Given the description of an element on the screen output the (x, y) to click on. 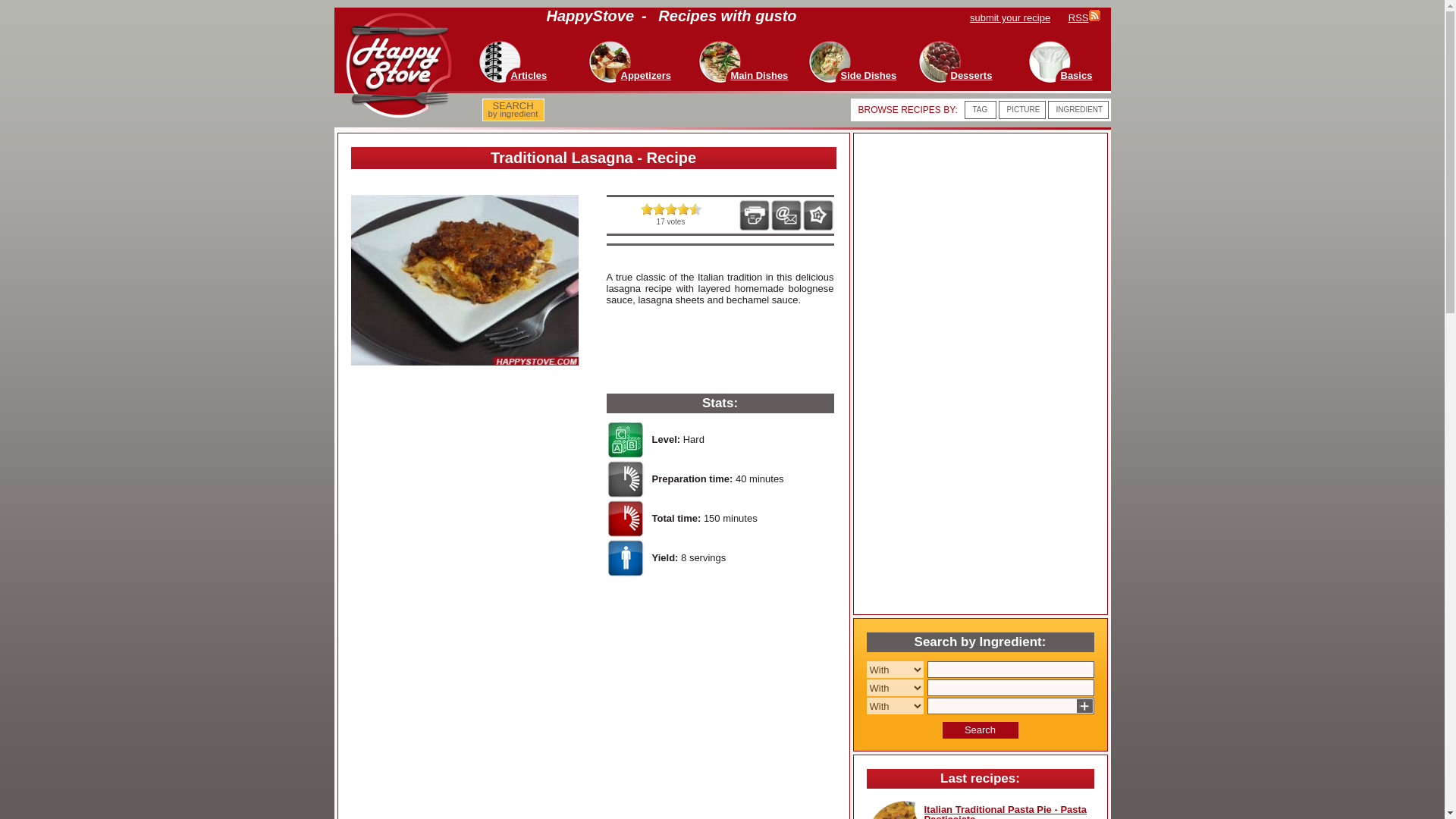
Current rating 4.73 (646, 209)
Desserts (971, 75)
Basics (1075, 75)
Side Dishes (512, 109)
Current rating 4.73 (868, 75)
Search recipes by ingredient (682, 209)
Browse recipes by tag (512, 109)
TAG (979, 108)
Main Dishes (979, 108)
